Given the description of an element on the screen output the (x, y) to click on. 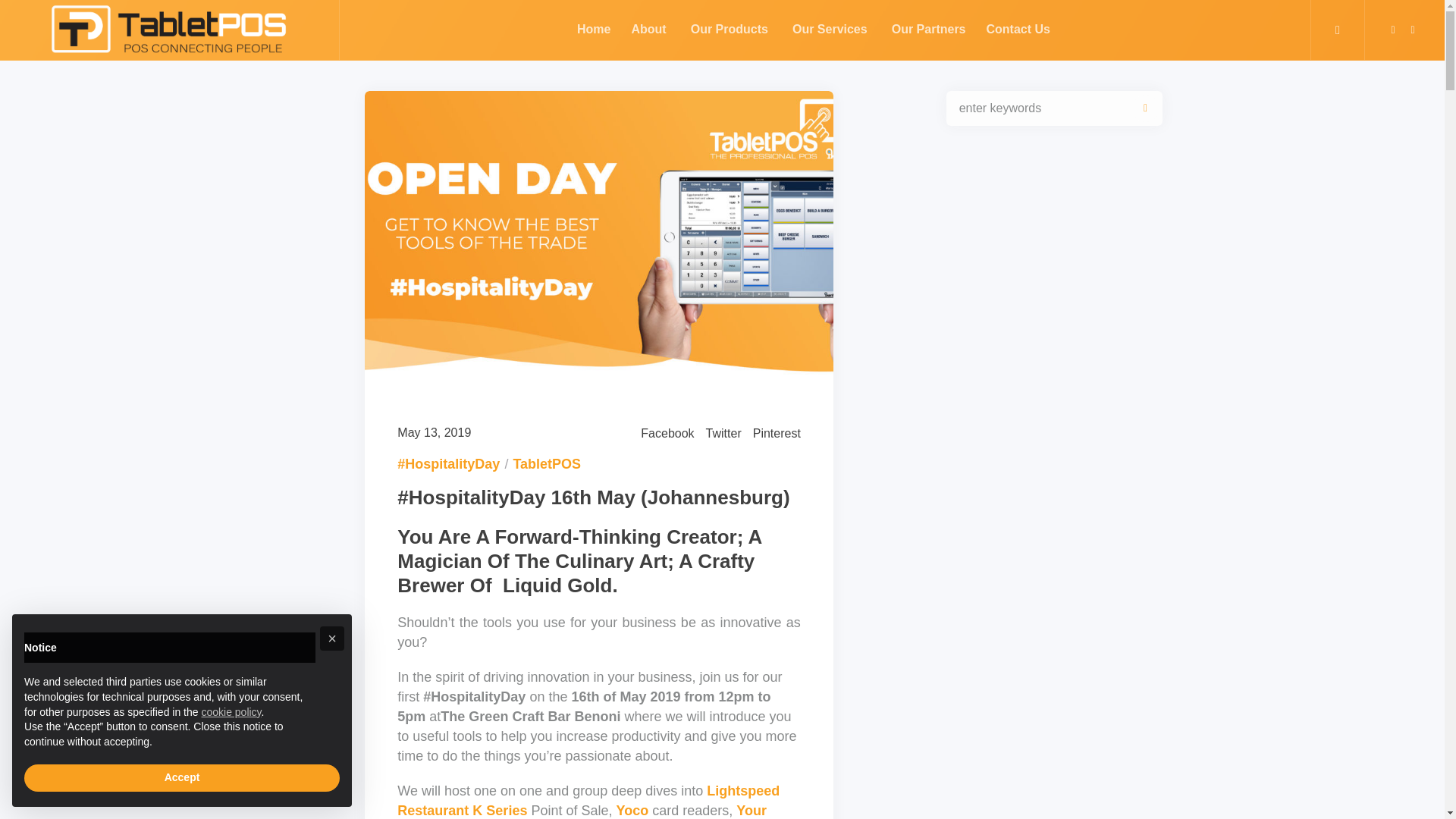
May 13, 2019 (433, 433)
Pinterest (776, 433)
Your Loyalty App (582, 811)
Posts by TabletPOS (546, 464)
Our Services (830, 29)
Our Partners (928, 29)
Yoco (631, 810)
About (648, 29)
TabletPOS (546, 464)
Facebook (667, 433)
